Given the description of an element on the screen output the (x, y) to click on. 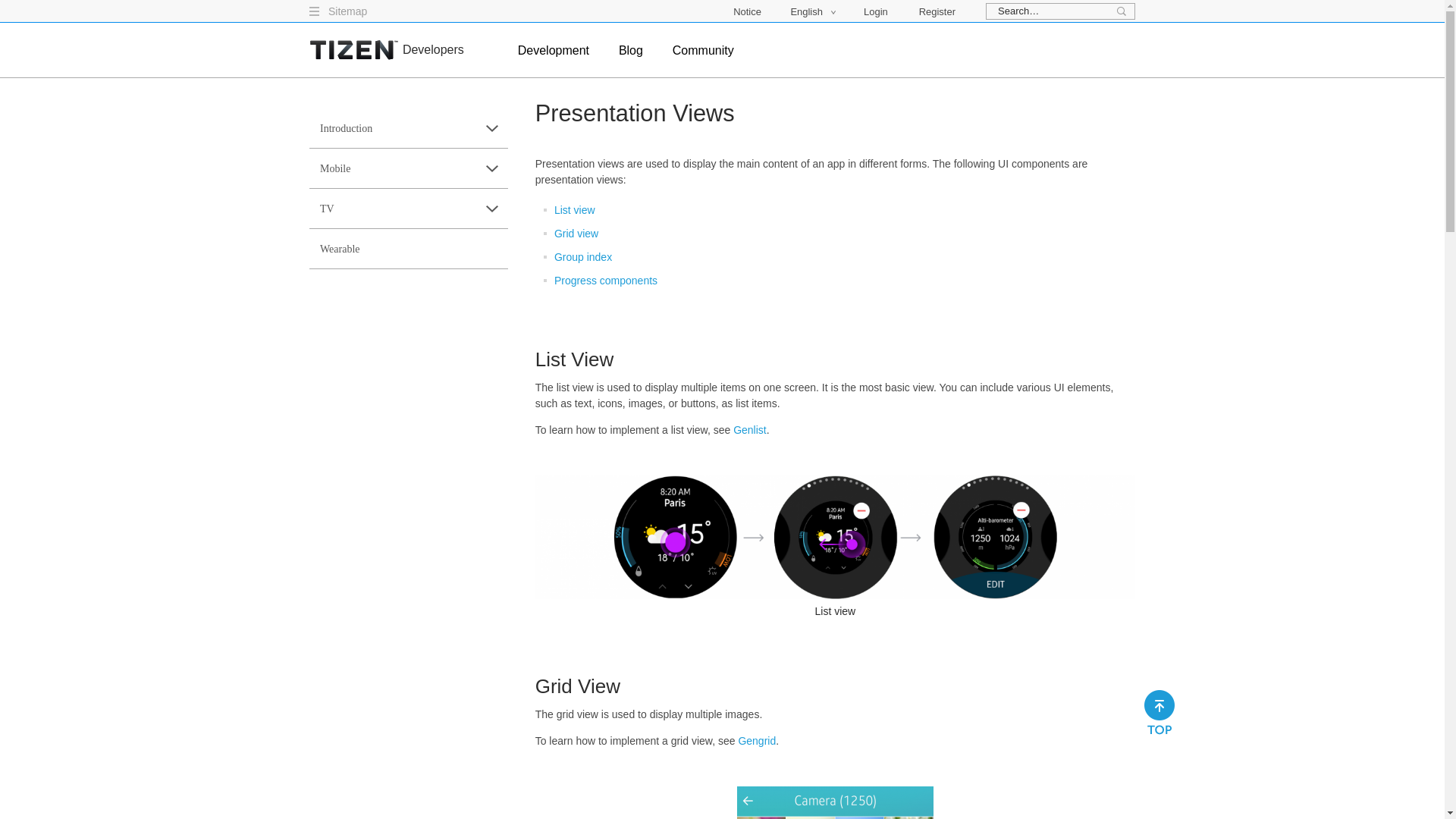
Login (882, 11)
Register (936, 11)
Search (1123, 11)
Home (353, 50)
Developers (433, 49)
Development (553, 60)
Login (882, 11)
Community (702, 60)
Register (936, 11)
Notice (747, 11)
